Given the description of an element on the screen output the (x, y) to click on. 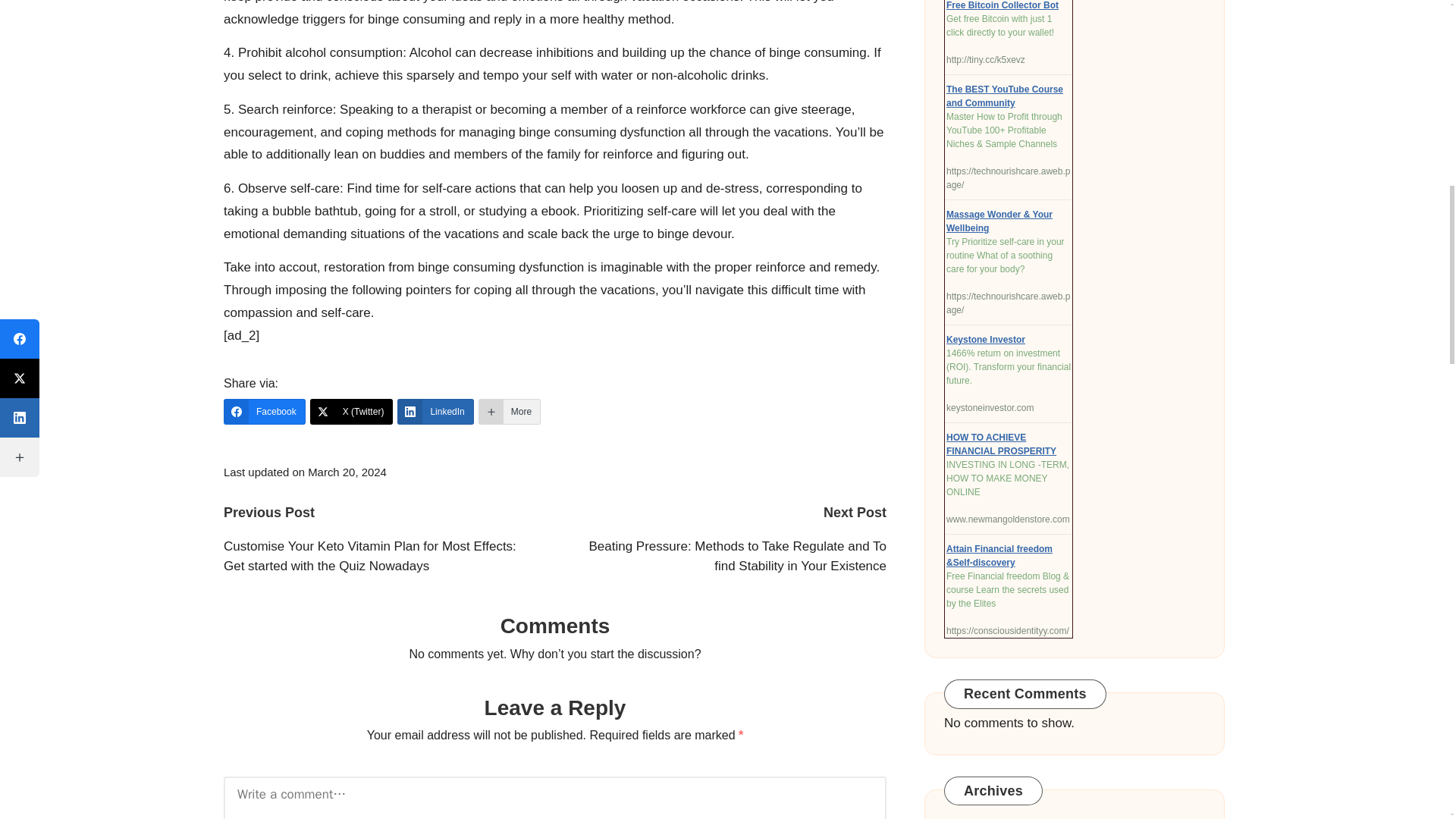
More (509, 411)
LinkedIn (435, 411)
Facebook (264, 411)
